Given the description of an element on the screen output the (x, y) to click on. 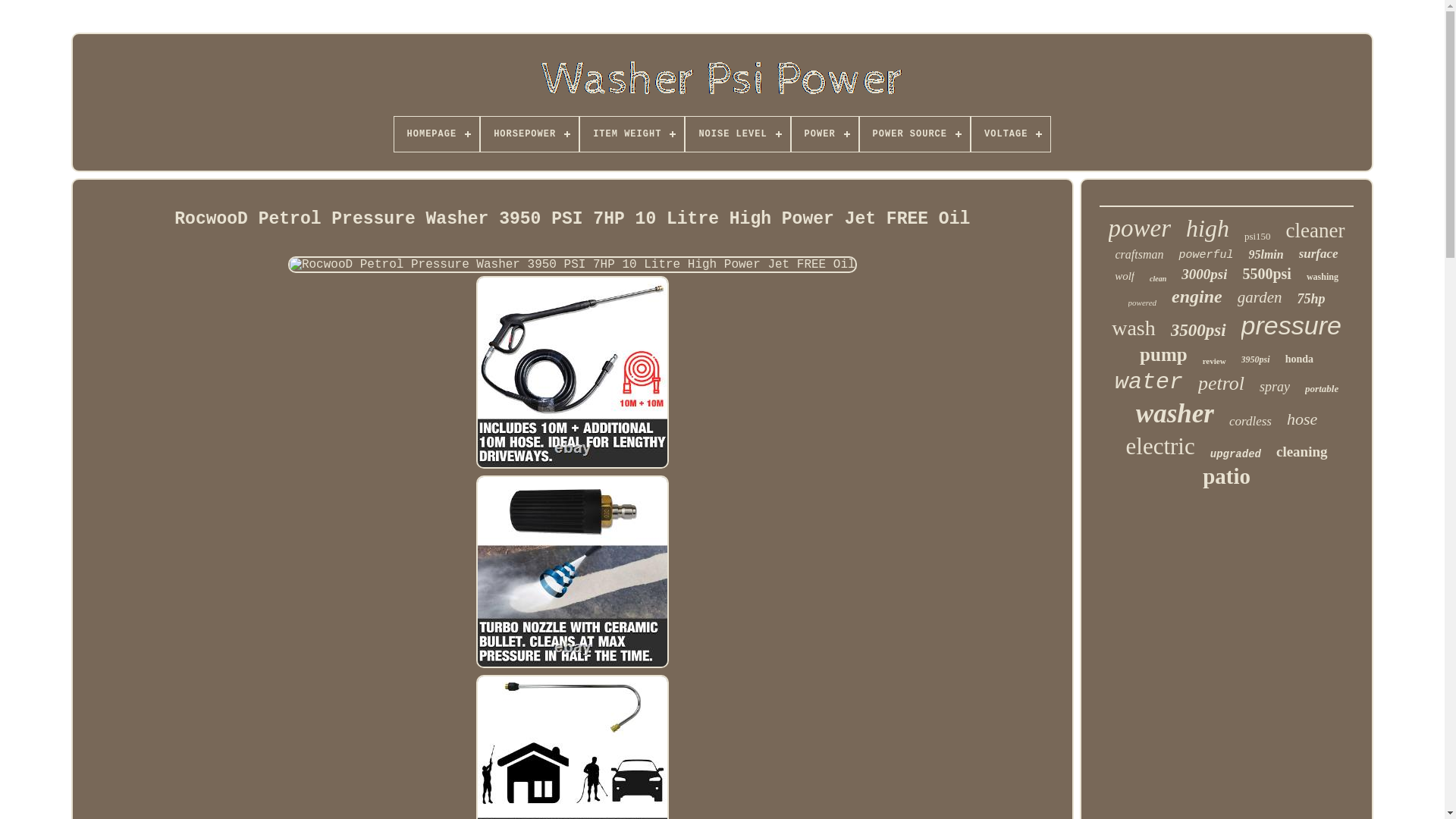
HOMEPAGE (437, 134)
HORSEPOWER (529, 134)
ITEM WEIGHT (631, 134)
